Given the description of an element on the screen output the (x, y) to click on. 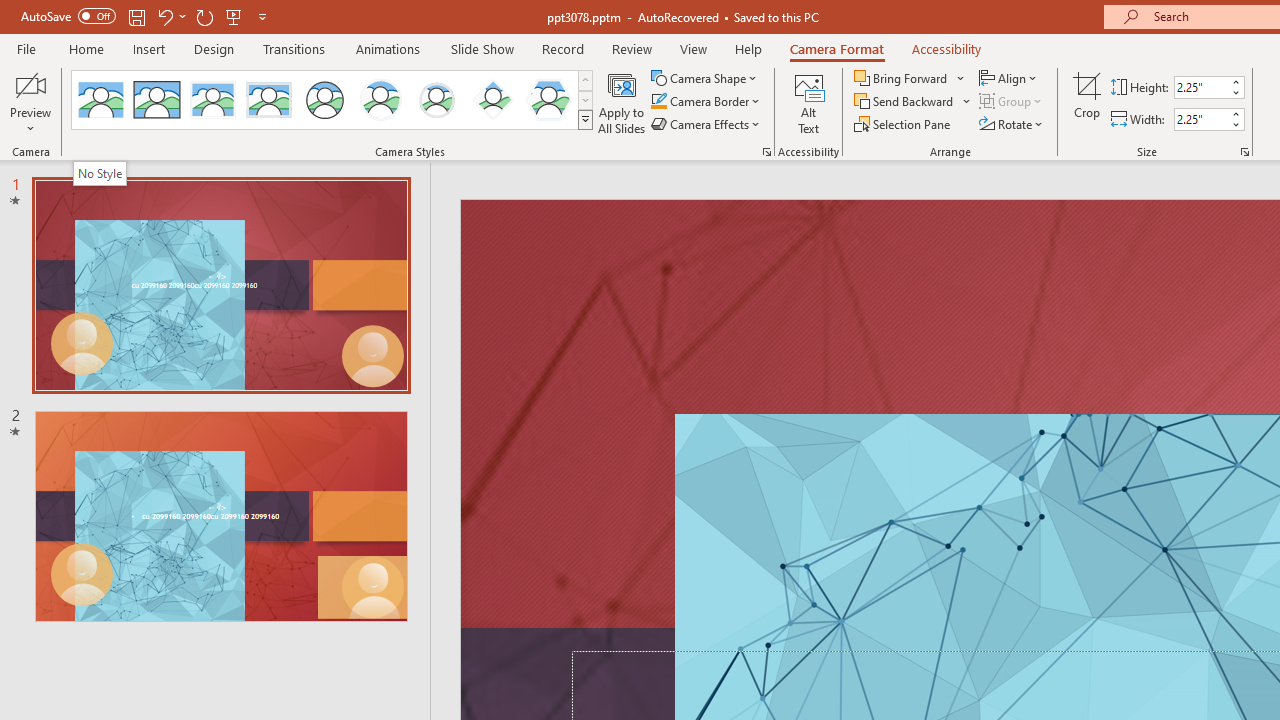
Send Backward (905, 101)
Send Backward (913, 101)
Center Shadow Rectangle (212, 100)
Size and Position... (1244, 151)
Alt Text (808, 102)
Bring Forward (910, 78)
Camera Format (836, 48)
